Given the description of an element on the screen output the (x, y) to click on. 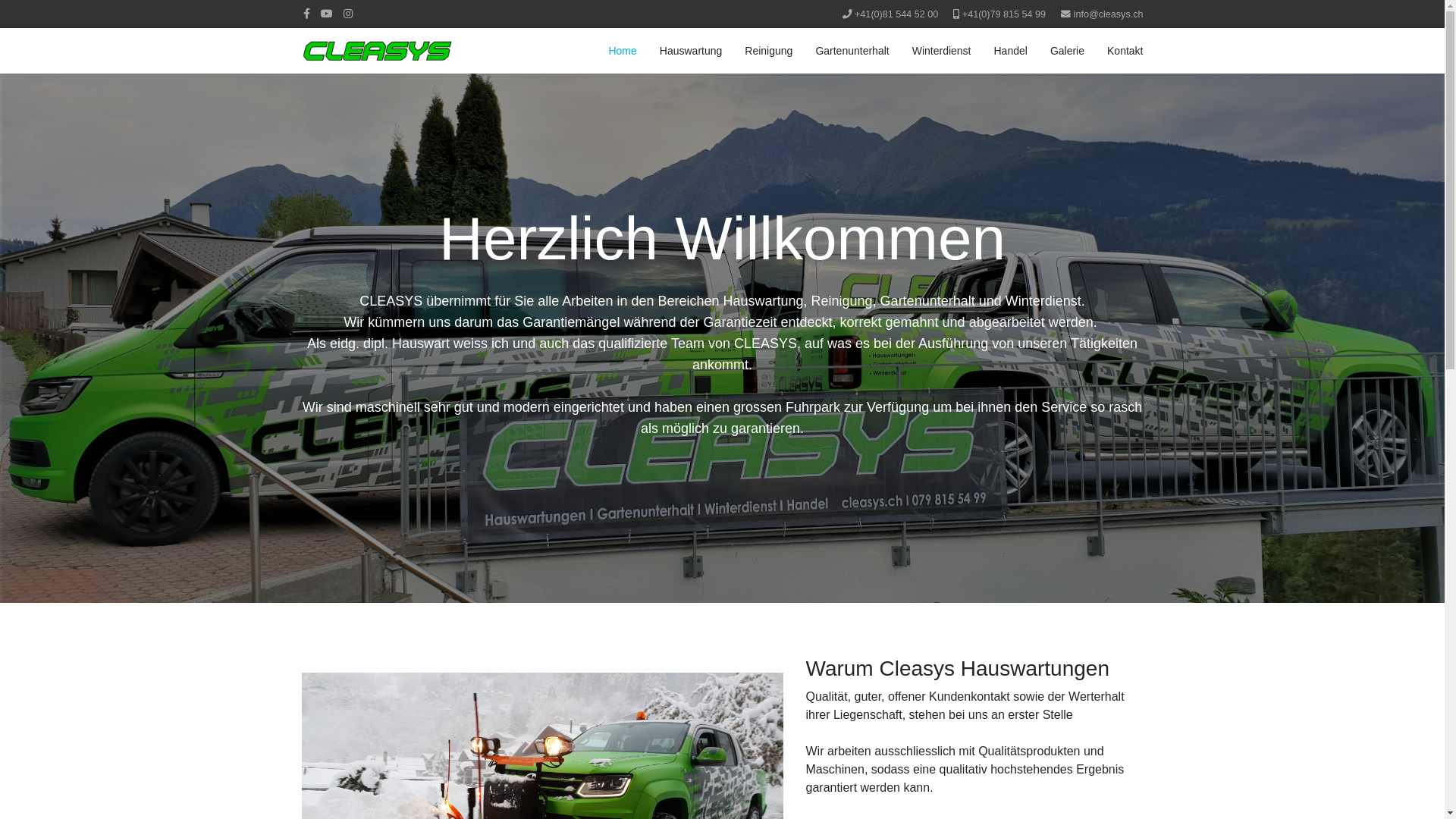
Kontakt Element type: text (1124, 50)
+41(0)81 544 52 00 Element type: text (896, 14)
Winterdienst Element type: text (941, 50)
Home Element type: text (621, 50)
+41(0)79 815 54 99 Element type: text (1003, 14)
Gartenunterhalt Element type: text (851, 50)
Hauswartung Element type: text (691, 50)
Galerie Element type: text (1066, 50)
Handel Element type: text (1010, 50)
Reinigung Element type: text (768, 50)
info@cleasys.ch Element type: text (1108, 14)
